Given the description of an element on the screen output the (x, y) to click on. 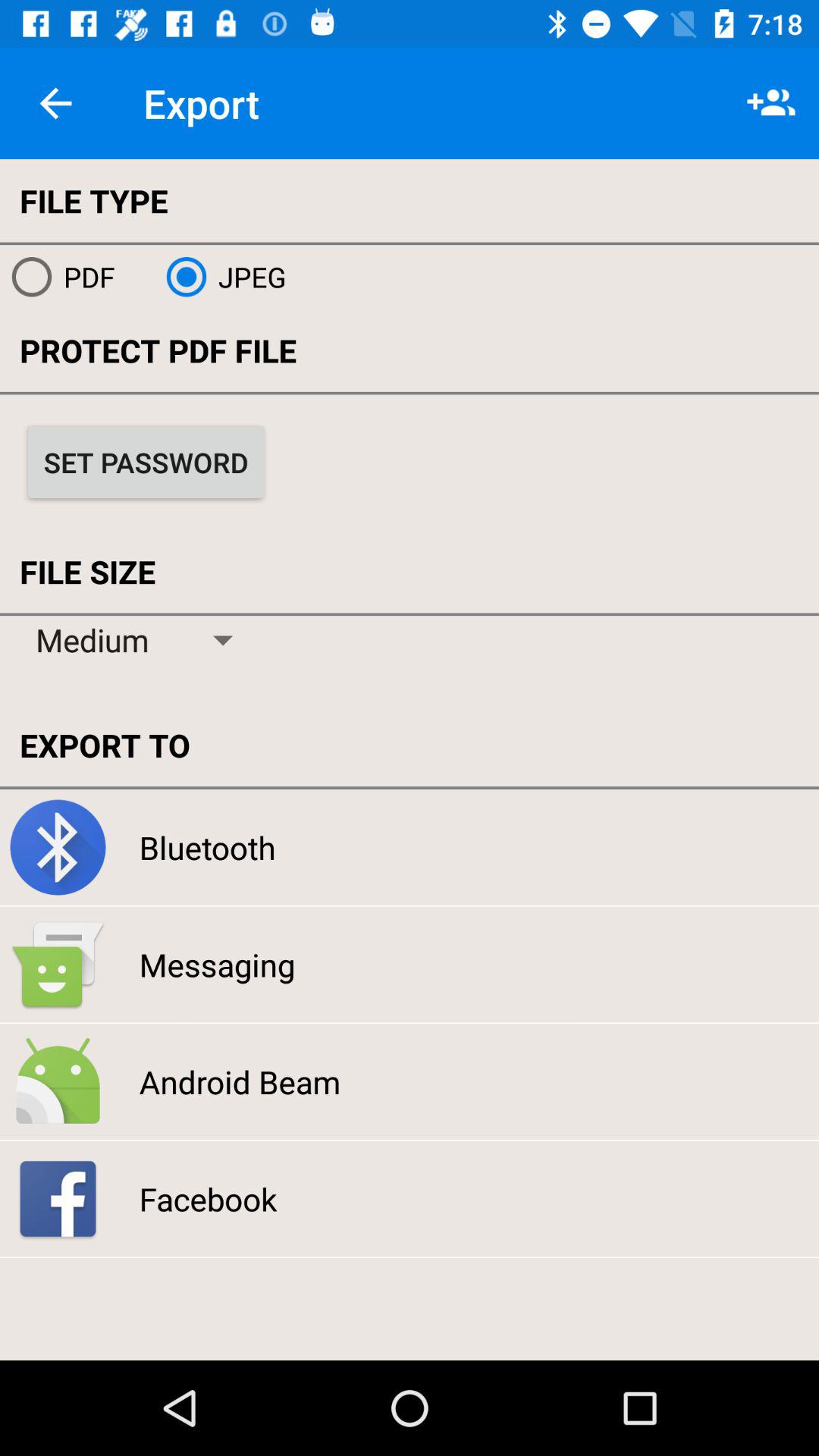
turn off messaging (217, 964)
